Given the description of an element on the screen output the (x, y) to click on. 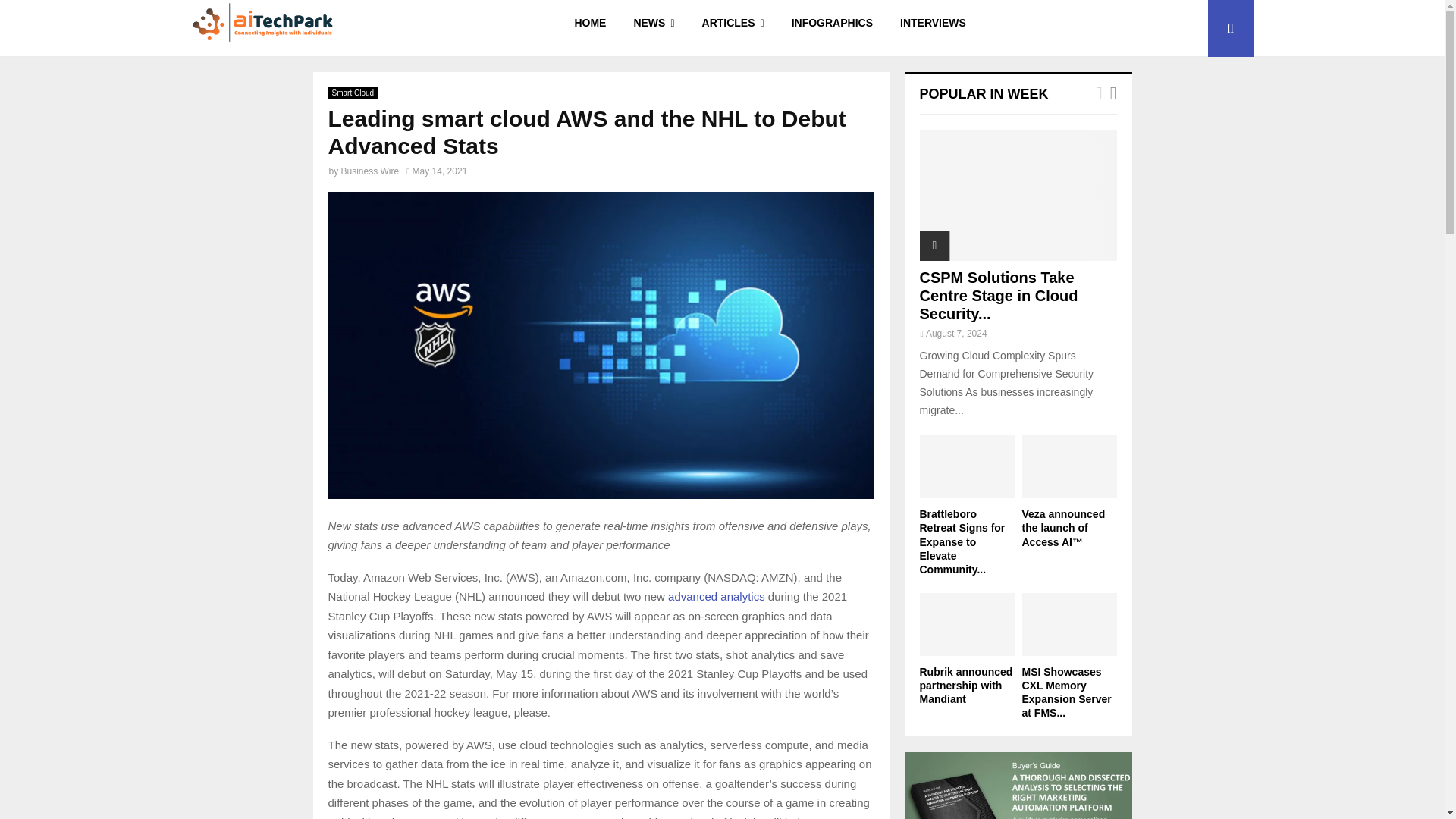
NEWS (653, 28)
Rubrik announced partnership with Mandiant (965, 624)
HOME (590, 28)
MSI Showcases CXL Memory Expansion Server at FMS 2024 Event (1069, 624)
 Rubrik announced partnership with Mandiant  (964, 685)
